Given the description of an element on the screen output the (x, y) to click on. 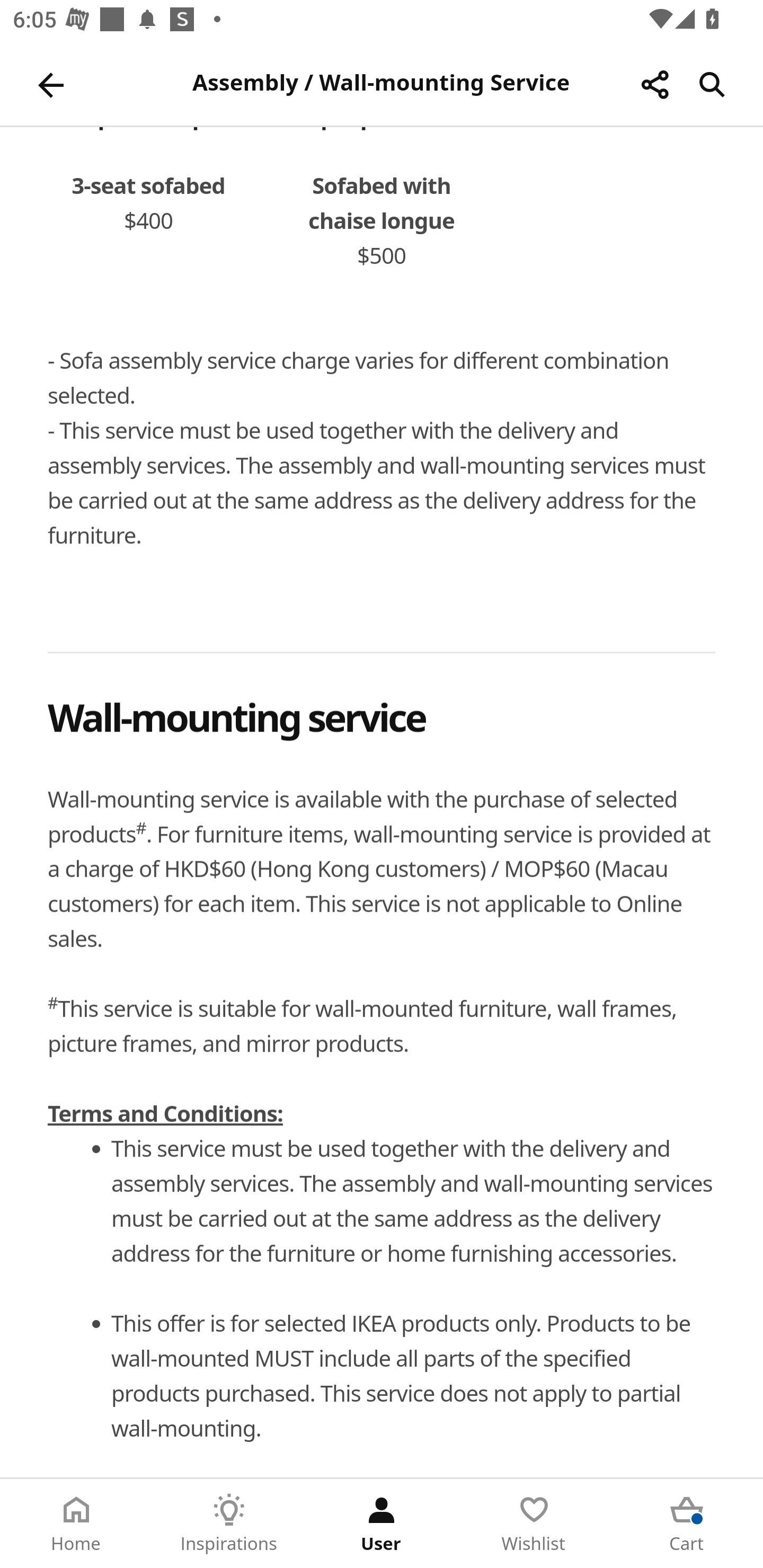
Home
Tab 1 of 5 (76, 1522)
Inspirations
Tab 2 of 5 (228, 1522)
User
Tab 3 of 5 (381, 1522)
Wishlist
Tab 4 of 5 (533, 1522)
Cart
Tab 5 of 5 (686, 1522)
